Given the description of an element on the screen output the (x, y) to click on. 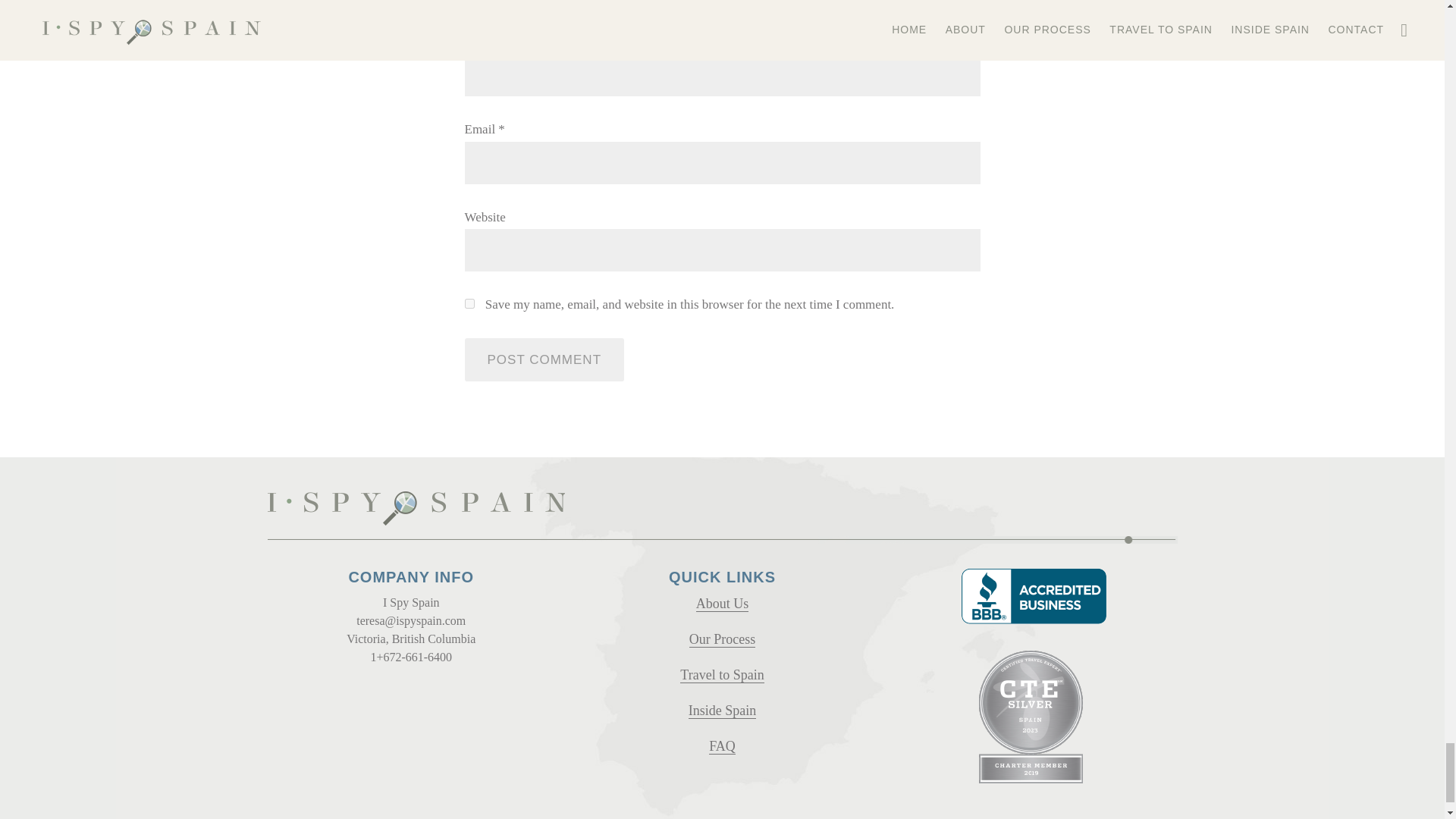
Post Comment (544, 359)
About Us (722, 603)
Our Process (721, 639)
FAQ (722, 746)
Post Comment (544, 359)
yes (469, 303)
Travel to Spain (720, 675)
Inside Spain (722, 710)
